Given the description of an element on the screen output the (x, y) to click on. 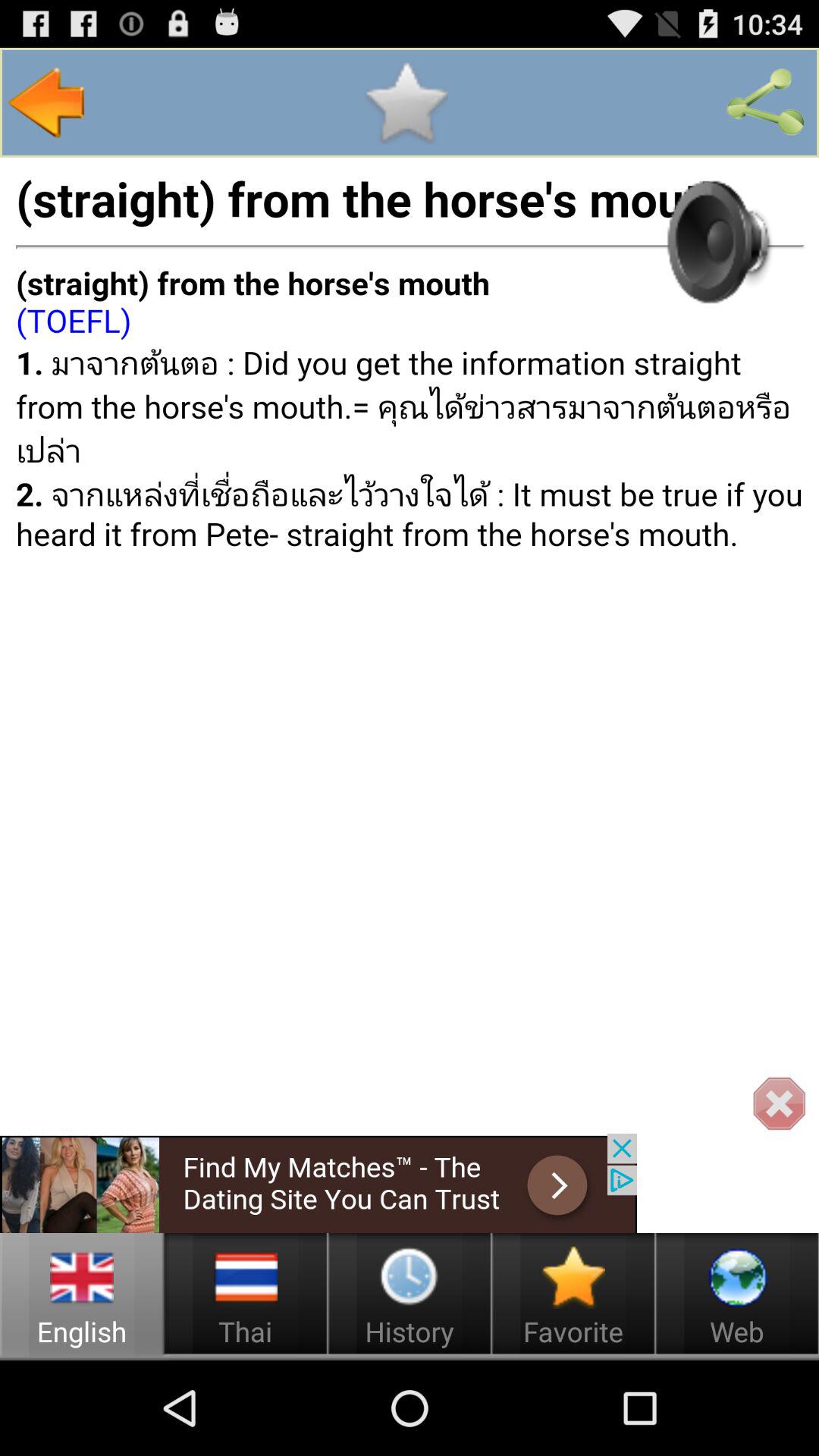
share page (765, 102)
